Given the description of an element on the screen output the (x, y) to click on. 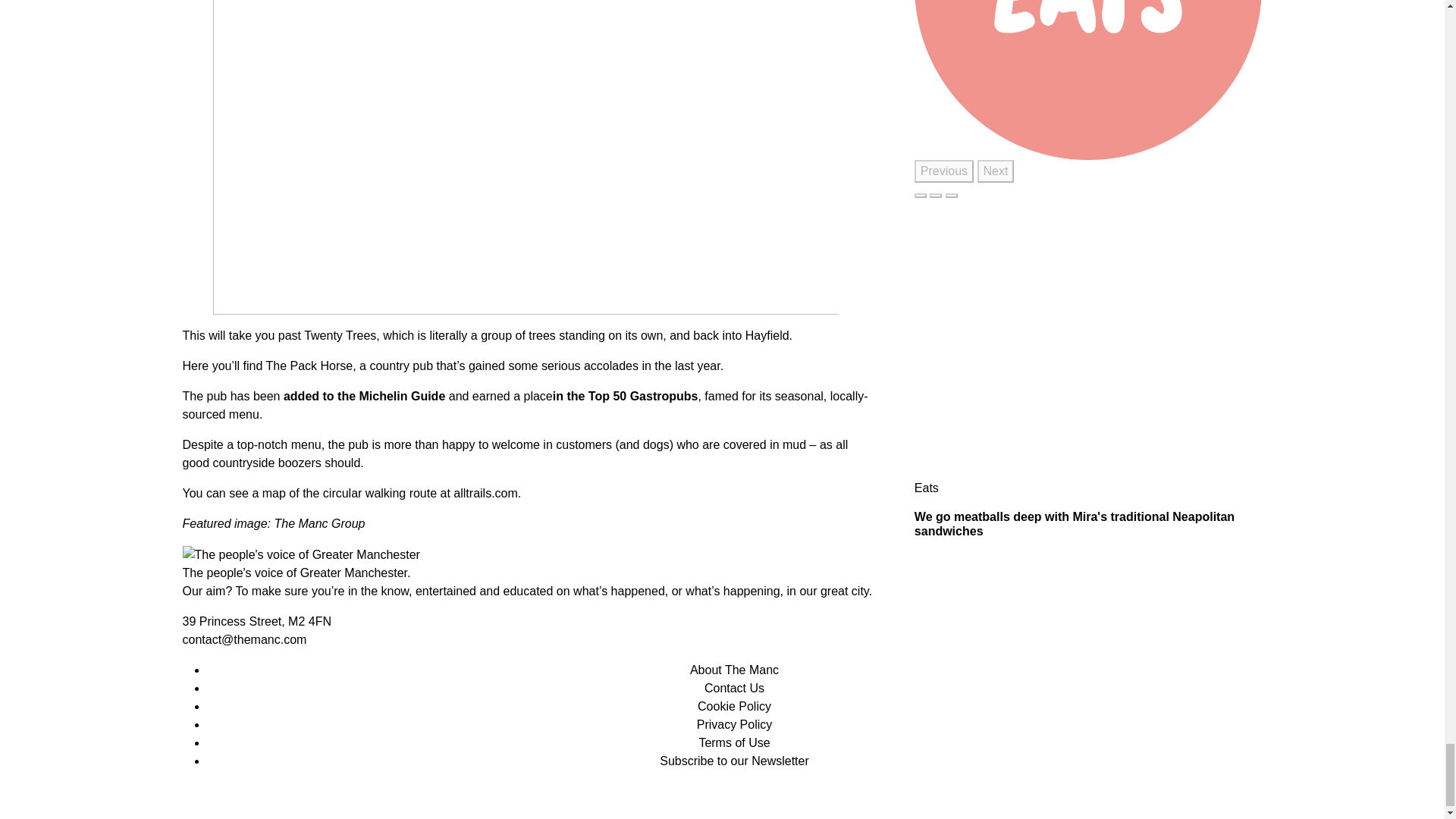
The Manc (300, 554)
